Given the description of an element on the screen output the (x, y) to click on. 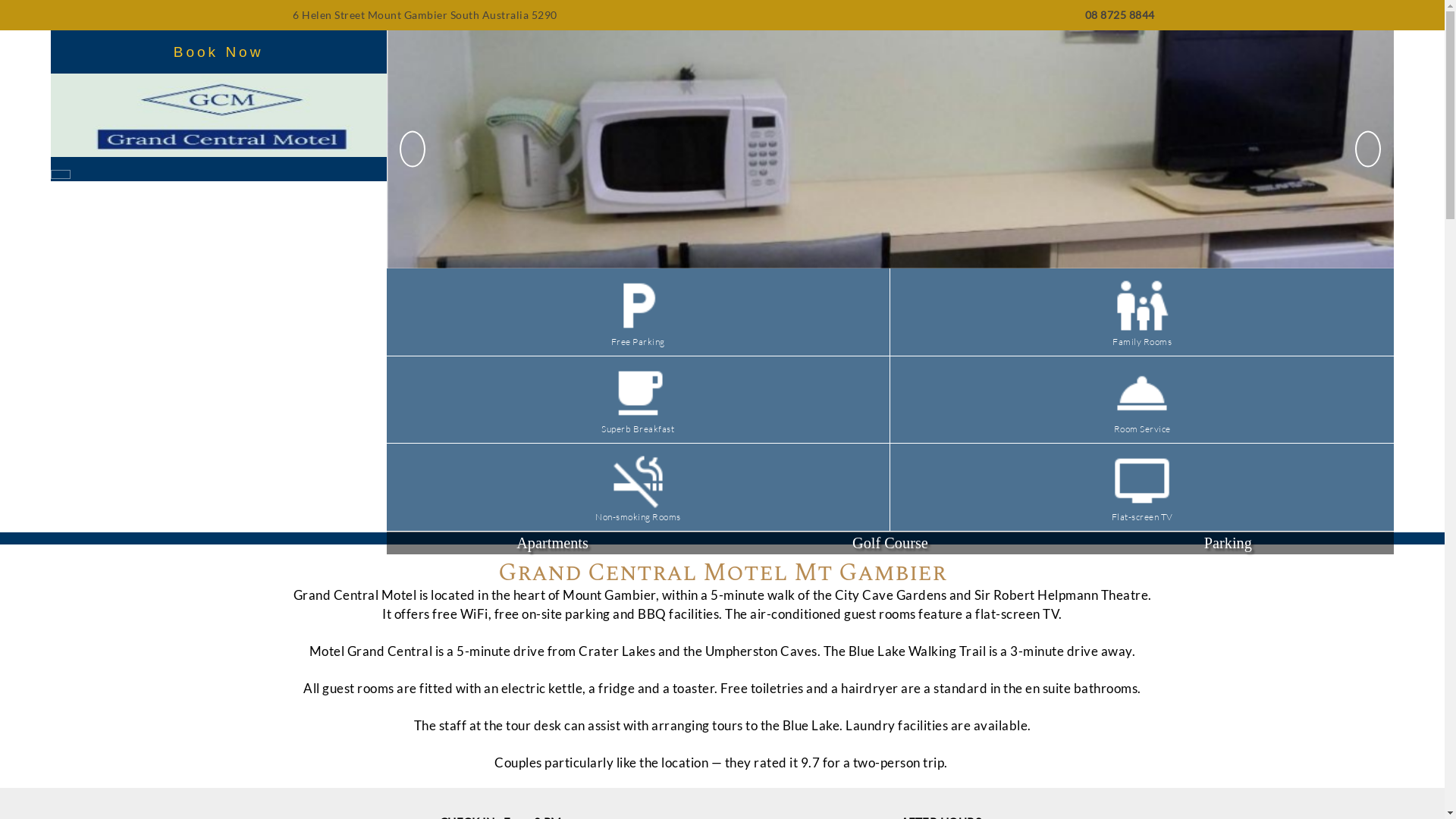
 08 8725 8844 Element type: text (1118, 14)
Book Now Element type: text (218, 51)
Update Element type: text (770, 427)
 6 Helen Street Mount Gambier South Australia 5290 Element type: text (422, 14)
Apartments Element type: text (552, 542)
Save Element type: text (763, 427)
Parking Element type: text (1227, 542)
Golf Course Element type: text (889, 542)
